Given the description of an element on the screen output the (x, y) to click on. 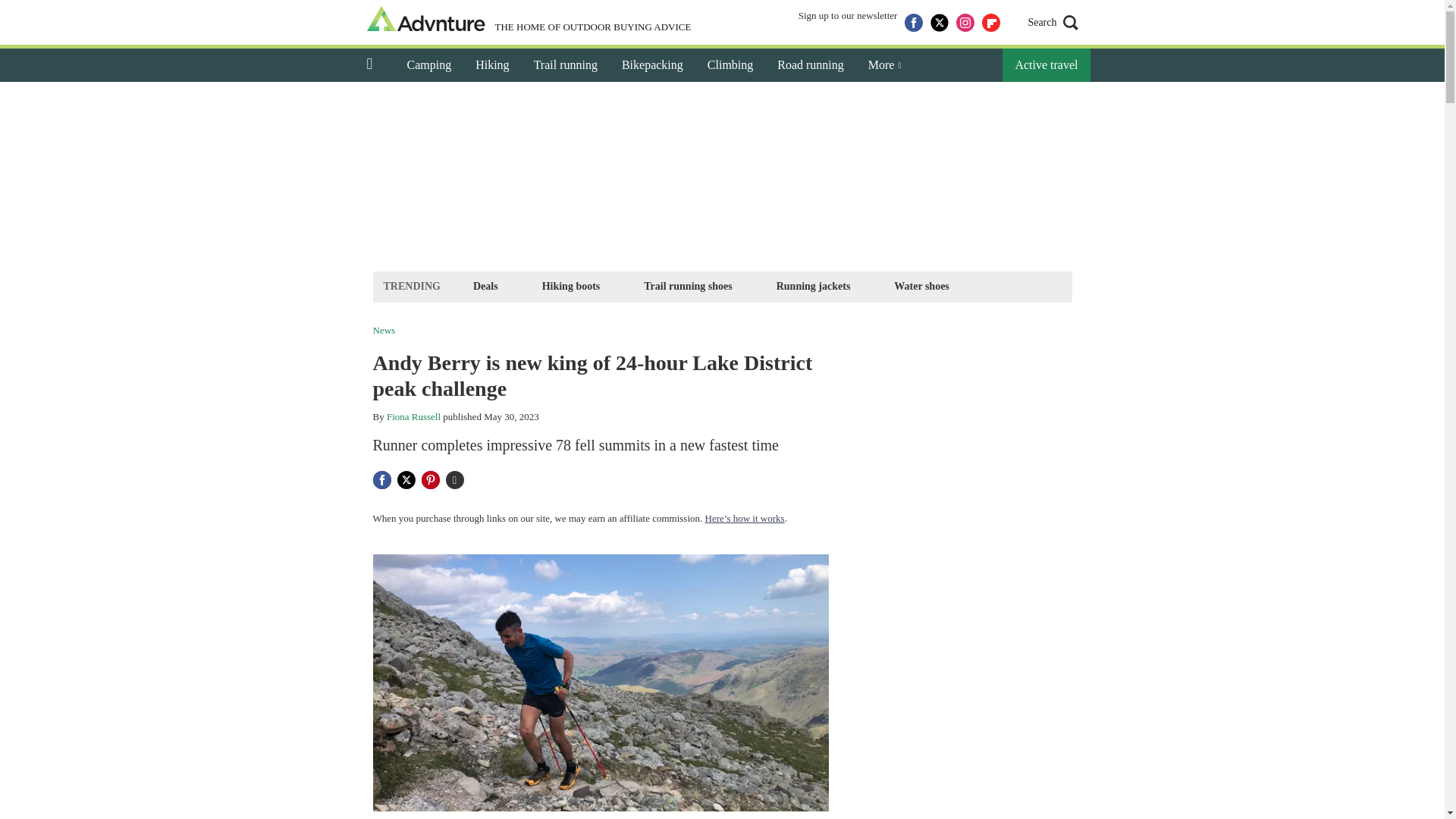
Water shoes (920, 286)
Bikepacking (652, 64)
Hiking boots (571, 286)
Sign up to our newsletter (847, 22)
Road running (810, 64)
Trail running (565, 64)
Fiona Russell (414, 416)
Hiking (492, 64)
Deals (485, 286)
THE HOME OF OUTDOOR BUYING ADVICE (528, 20)
Camping (428, 64)
Active travel (1046, 64)
Trail running shoes (687, 286)
Running jackets (813, 286)
Climbing (730, 64)
